Given the description of an element on the screen output the (x, y) to click on. 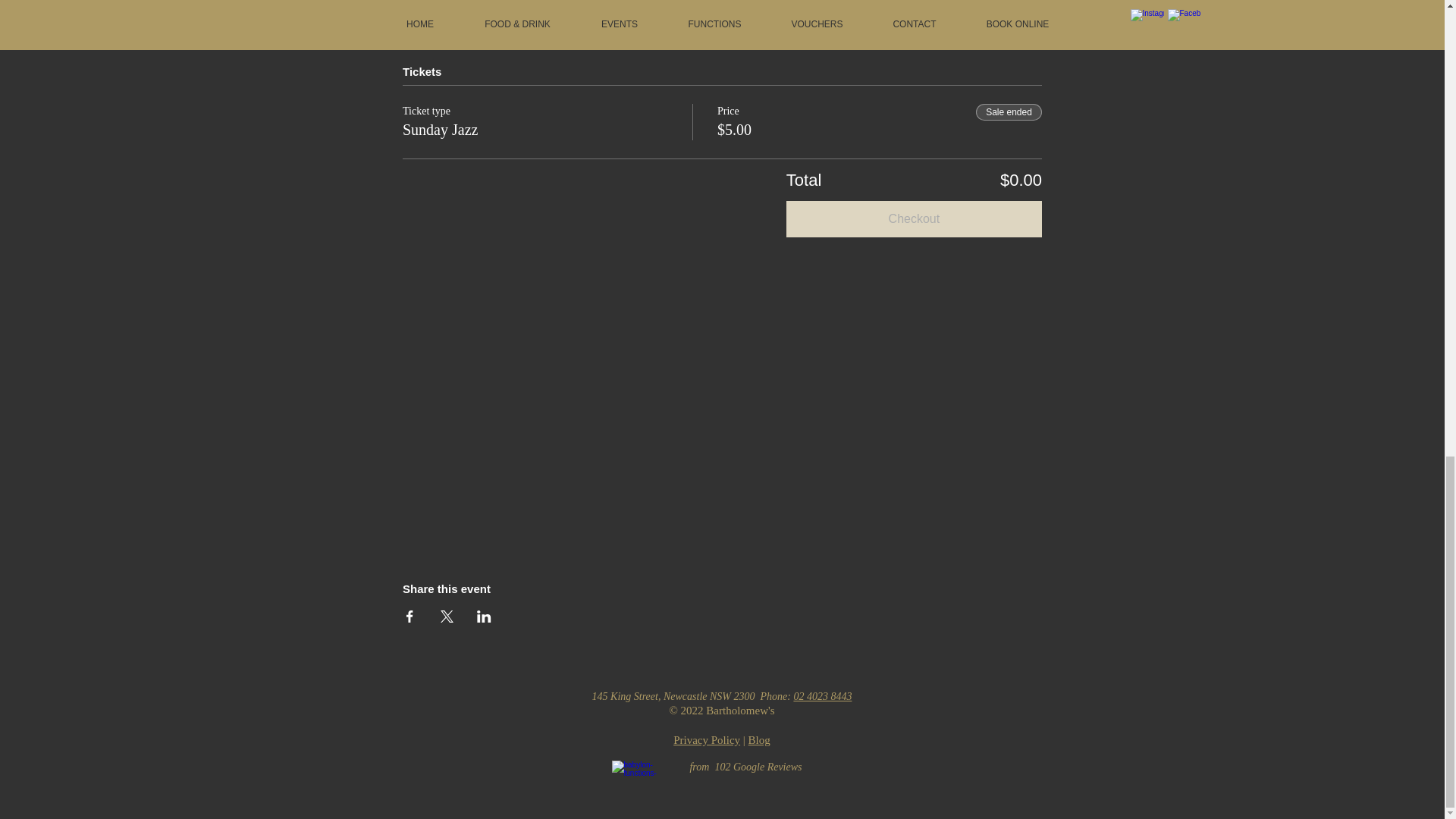
02 4023 8443 (822, 696)
Privacy Policy (705, 739)
Blog (759, 739)
Checkout (914, 218)
